Given the description of an element on the screen output the (x, y) to click on. 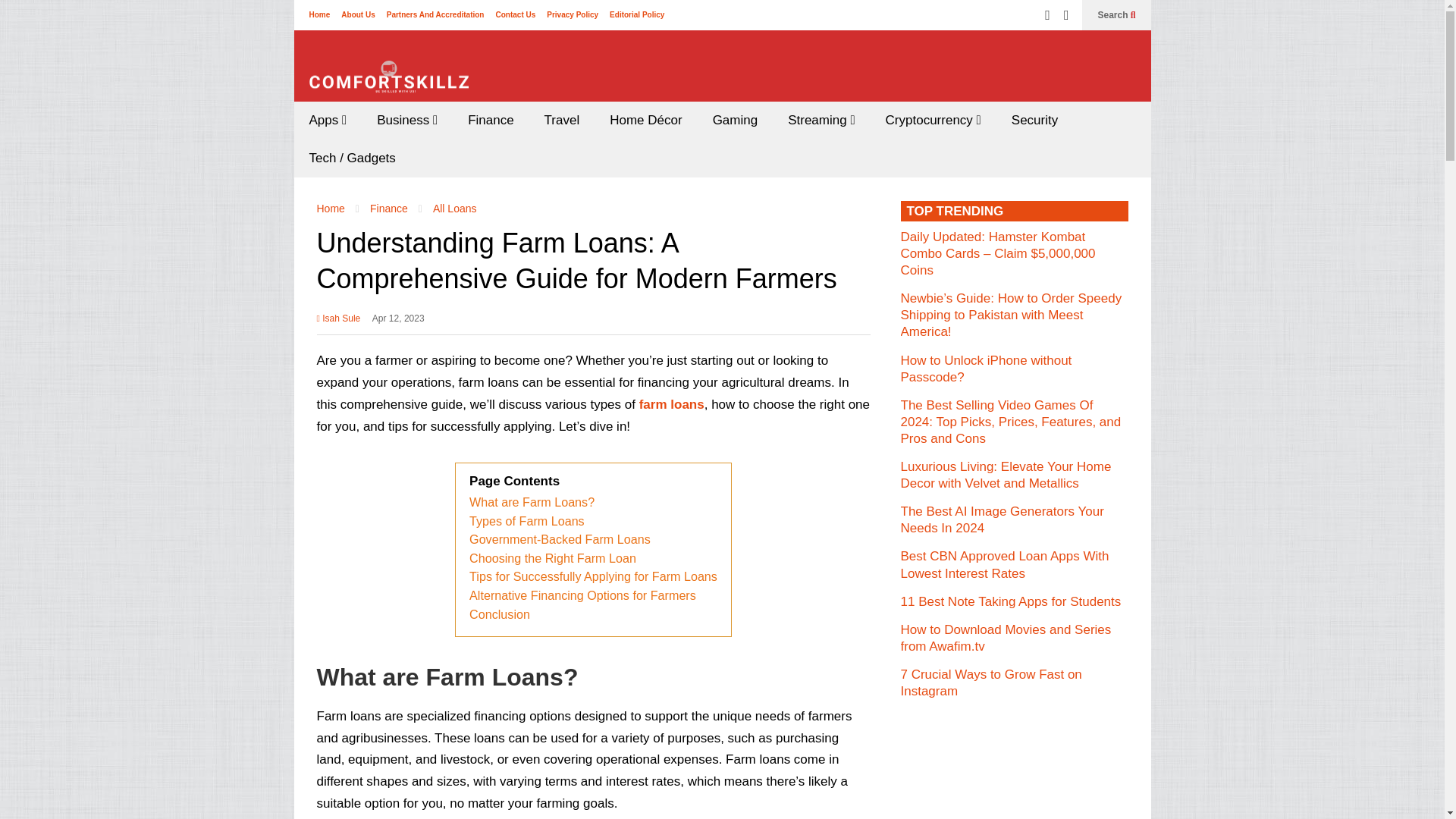
Business (406, 120)
Apps (328, 120)
Privacy Policy (572, 14)
Cryptocurrency (932, 120)
Streaming (821, 120)
Contact Us (515, 14)
Finance (490, 120)
Travel (562, 120)
Security (1034, 120)
Gaming (735, 120)
Search (1116, 15)
Partners And Accreditation (435, 14)
Editorial Policy (636, 14)
Home (319, 14)
About Us (357, 14)
